Given the description of an element on the screen output the (x, y) to click on. 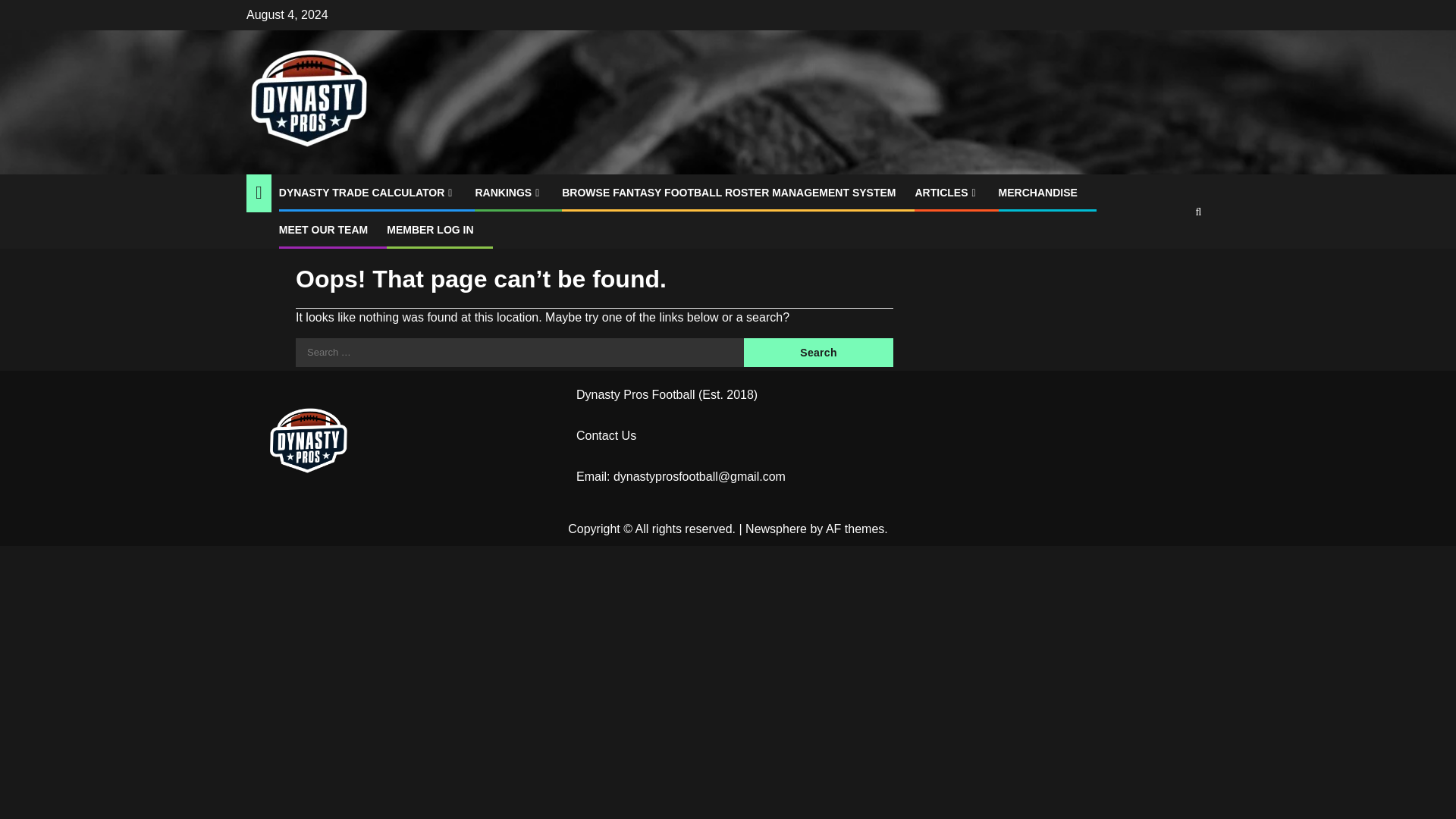
Search (1168, 257)
Newsphere (775, 528)
BROWSE FANTASY FOOTBALL ROSTER MANAGEMENT SYSTEM (728, 192)
Search (818, 352)
RANKINGS (508, 192)
ARTICLES (946, 192)
DYNASTY TRADE CALCULATOR (368, 192)
MEET OUR TEAM (323, 229)
Home (259, 235)
Search (818, 352)
404 Not Found (317, 235)
MERCHANDISE (1037, 192)
MEMBER LOG IN (430, 229)
Search (818, 352)
